Given the description of an element on the screen output the (x, y) to click on. 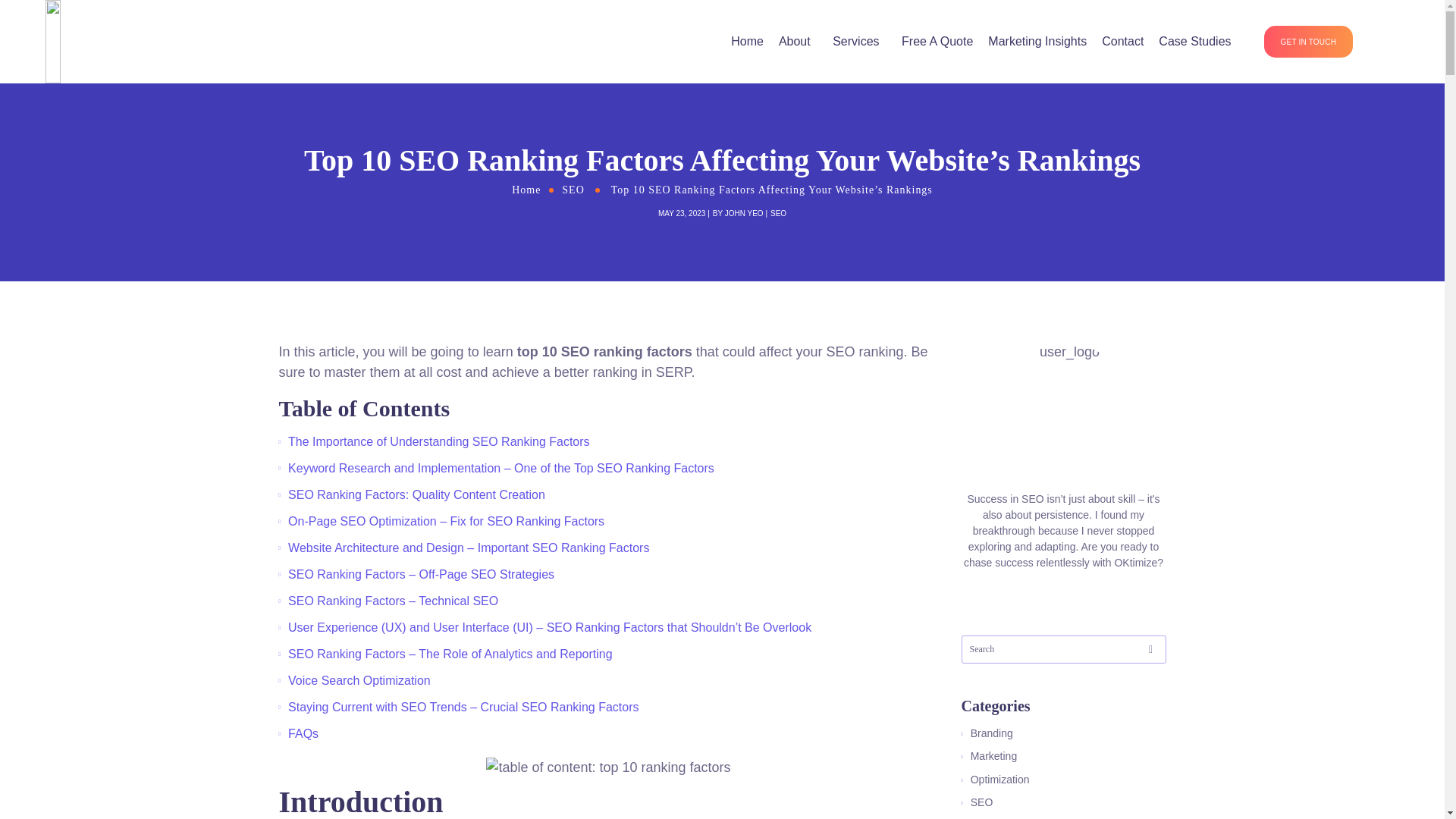
Home (526, 188)
Marketing Insights (1037, 41)
Search (1362, 82)
Case Studies (1194, 41)
SEO (572, 188)
Voice Search Optimization (359, 680)
Free A Quote (936, 41)
SEO (778, 213)
GET IN TOUCH (1308, 41)
FAQs (303, 733)
